Given the description of an element on the screen output the (x, y) to click on. 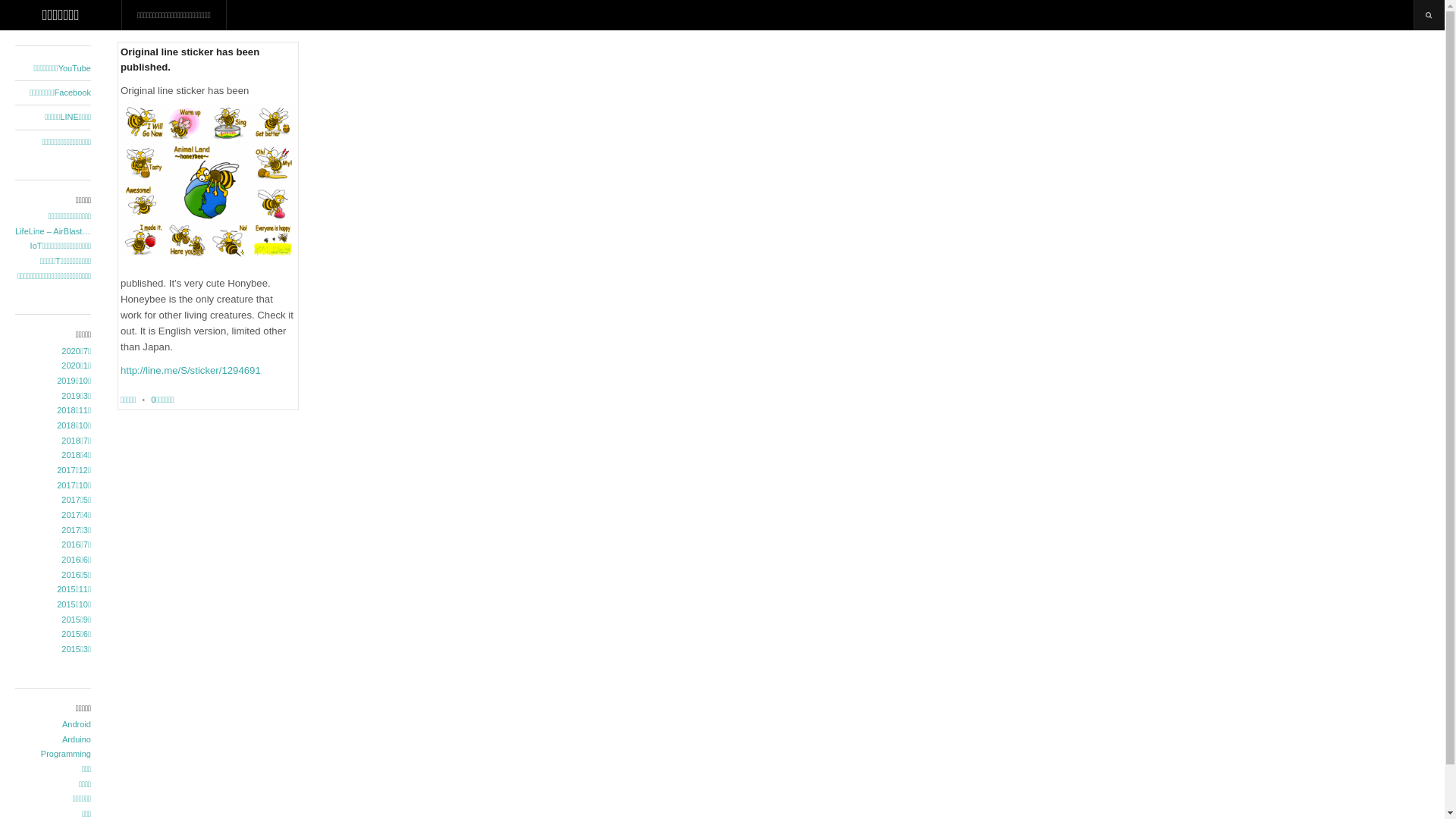
Original line sticker has been published. Element type: text (189, 59)
Arduino Element type: text (53, 739)
http://line.me/S/sticker/1294691 Element type: text (190, 370)
Android Element type: text (53, 724)
Programming Element type: text (53, 754)
